Given the description of an element on the screen output the (x, y) to click on. 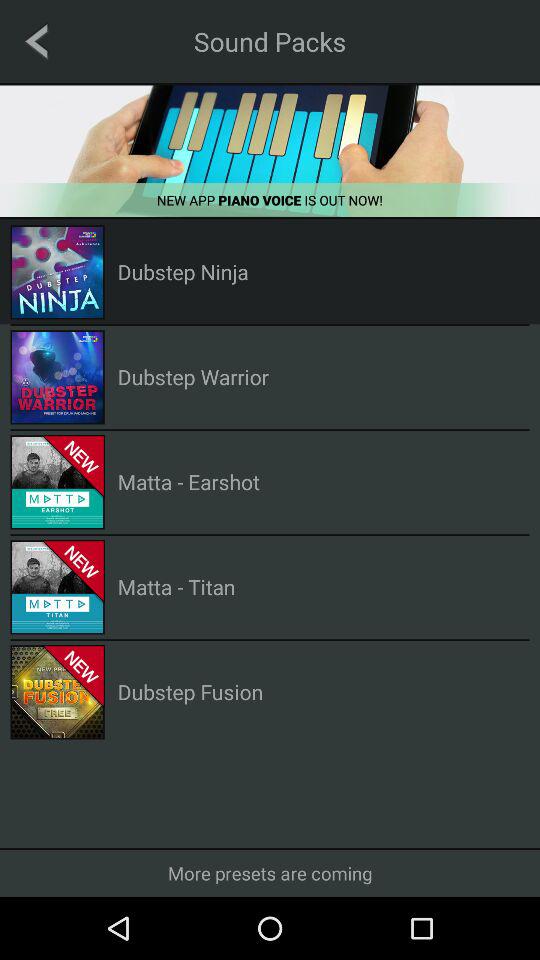
download the app (270, 150)
